Given the description of an element on the screen output the (x, y) to click on. 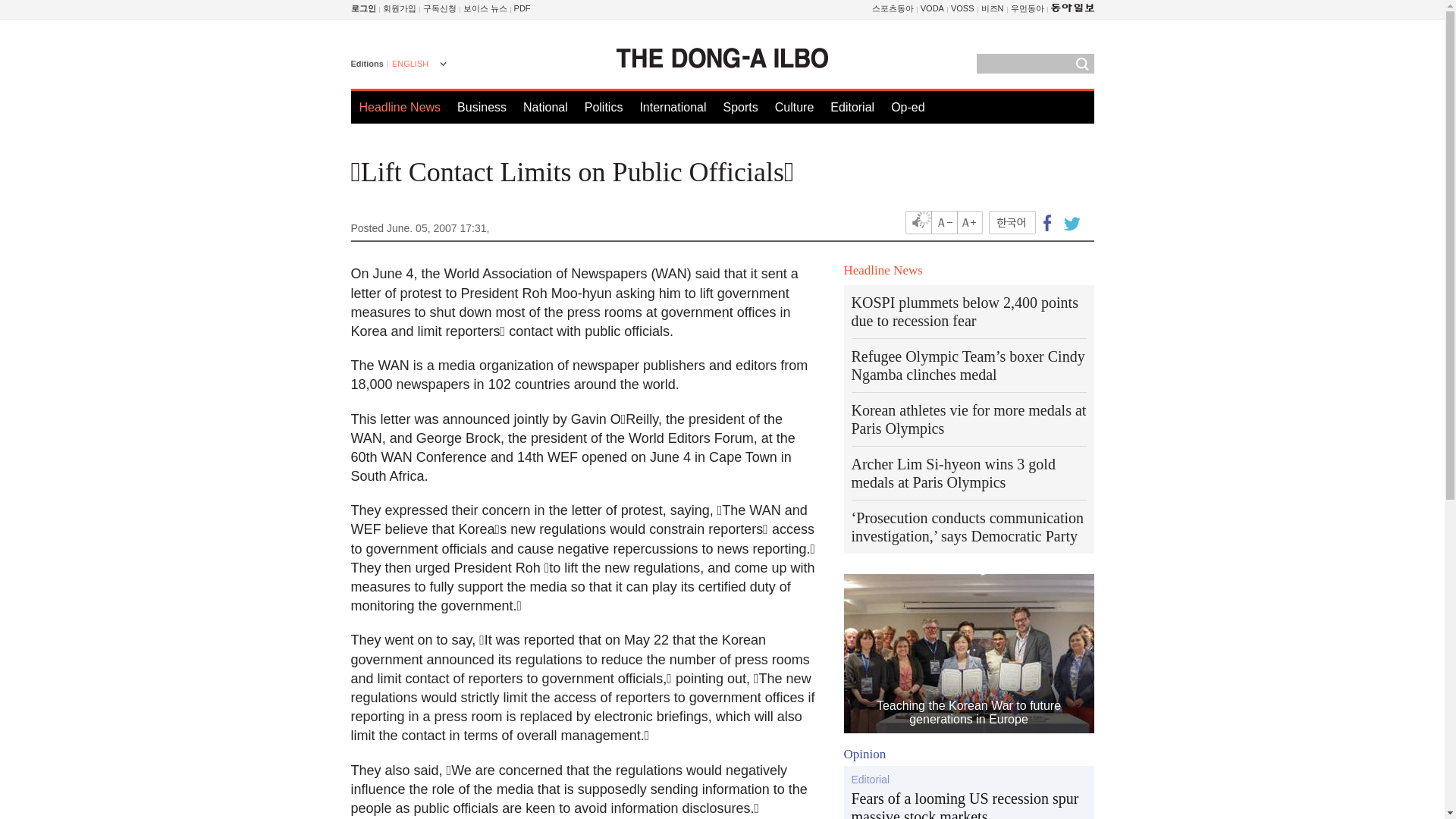
WOMAN (1026, 8)
National (544, 106)
VODA (931, 8)
Share this article on Twitter (1069, 222)
VOSS (962, 8)
SPORTS (893, 8)
International (672, 106)
READERS (440, 8)
Share this article on Facebook (1047, 222)
Culture (793, 106)
